Given the description of an element on the screen output the (x, y) to click on. 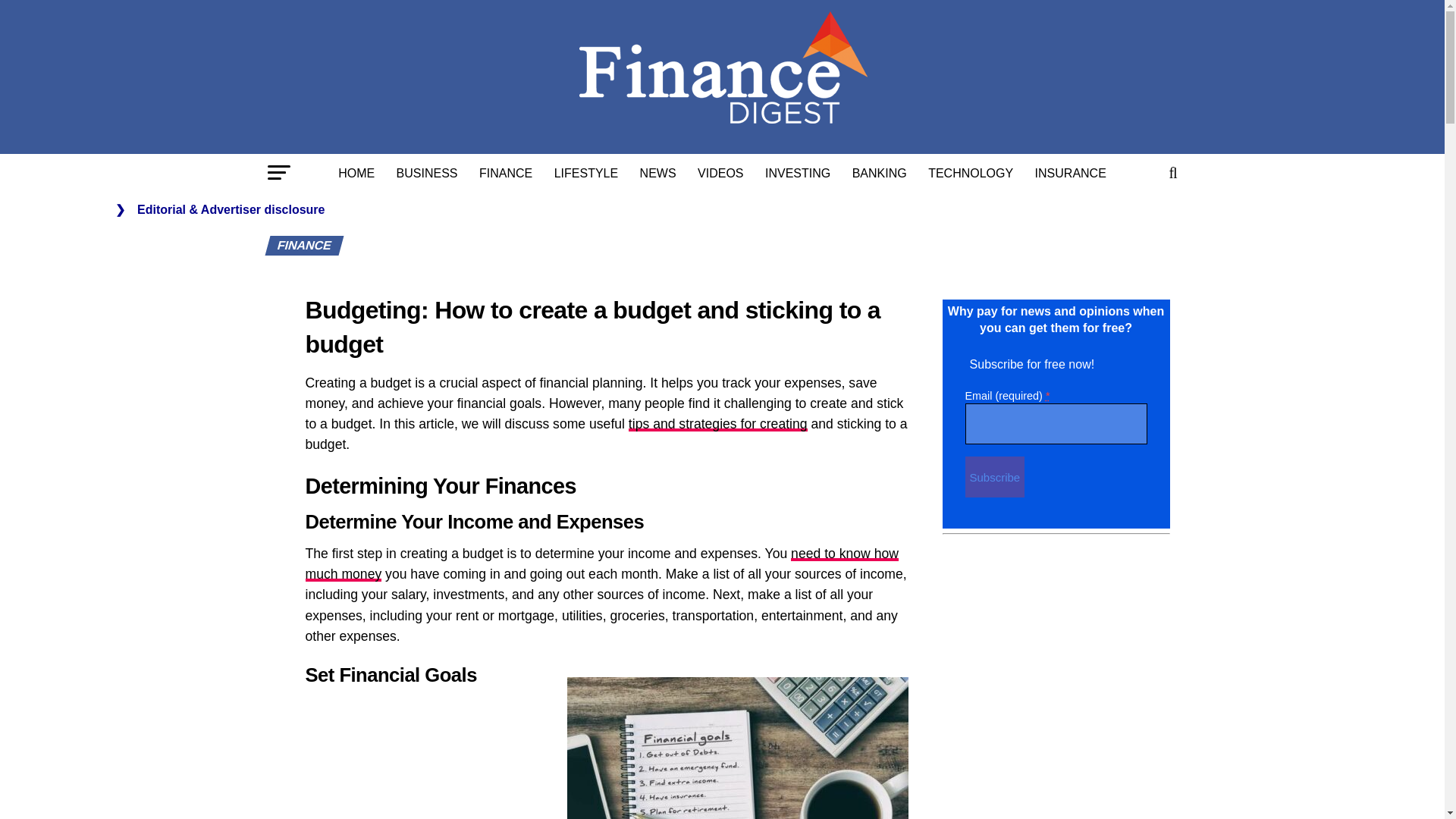
LIFESTYLE (585, 173)
HOME (356, 173)
Home (356, 173)
News (657, 173)
Finance (505, 173)
Lifestyle (585, 173)
VIDEOS (720, 173)
FINANCE (505, 173)
BUSINESS (427, 173)
Subscribe (994, 476)
